Given the description of an element on the screen output the (x, y) to click on. 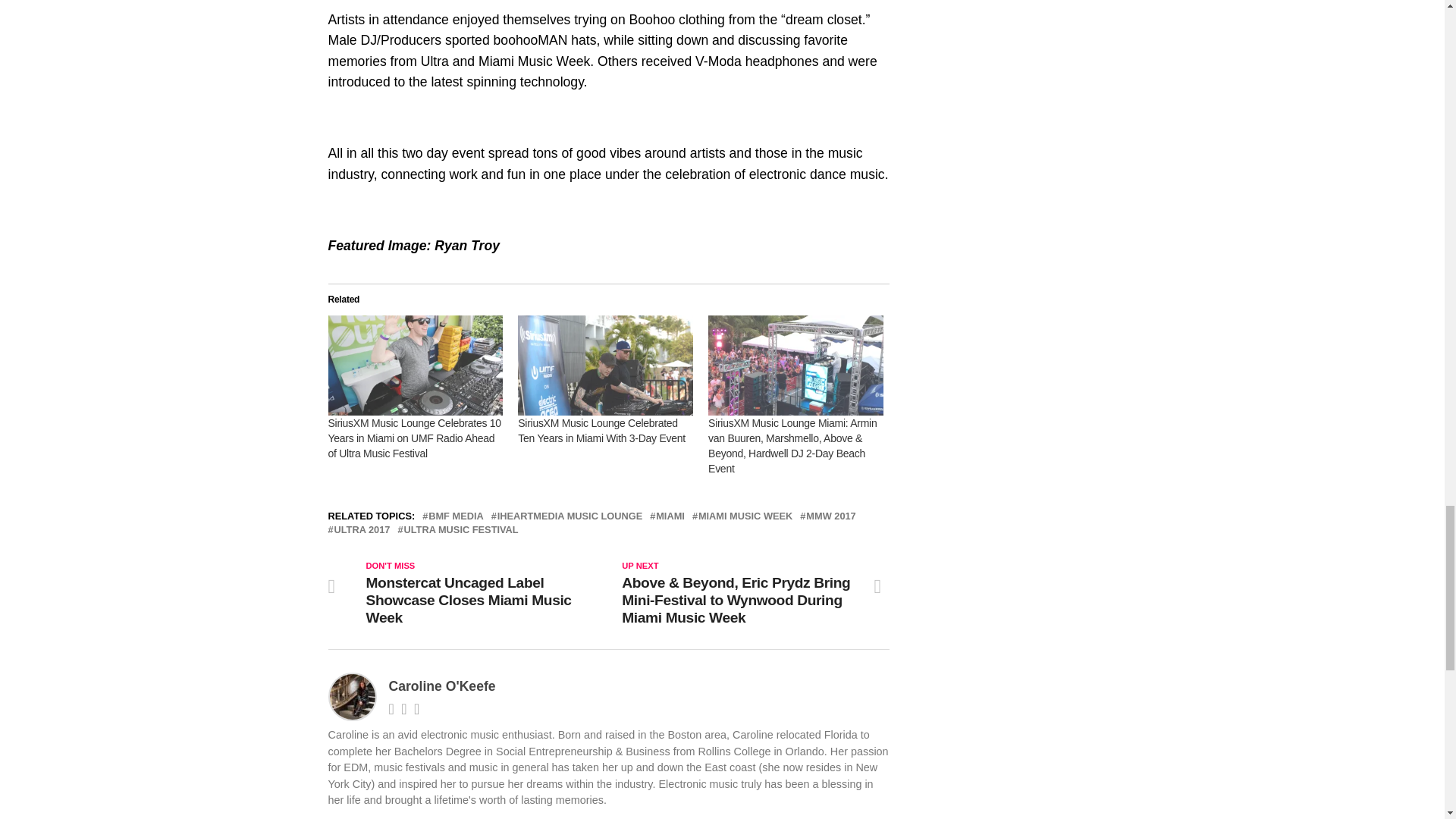
Posts by Caroline O'Keefe (441, 685)
